Given the description of an element on the screen output the (x, y) to click on. 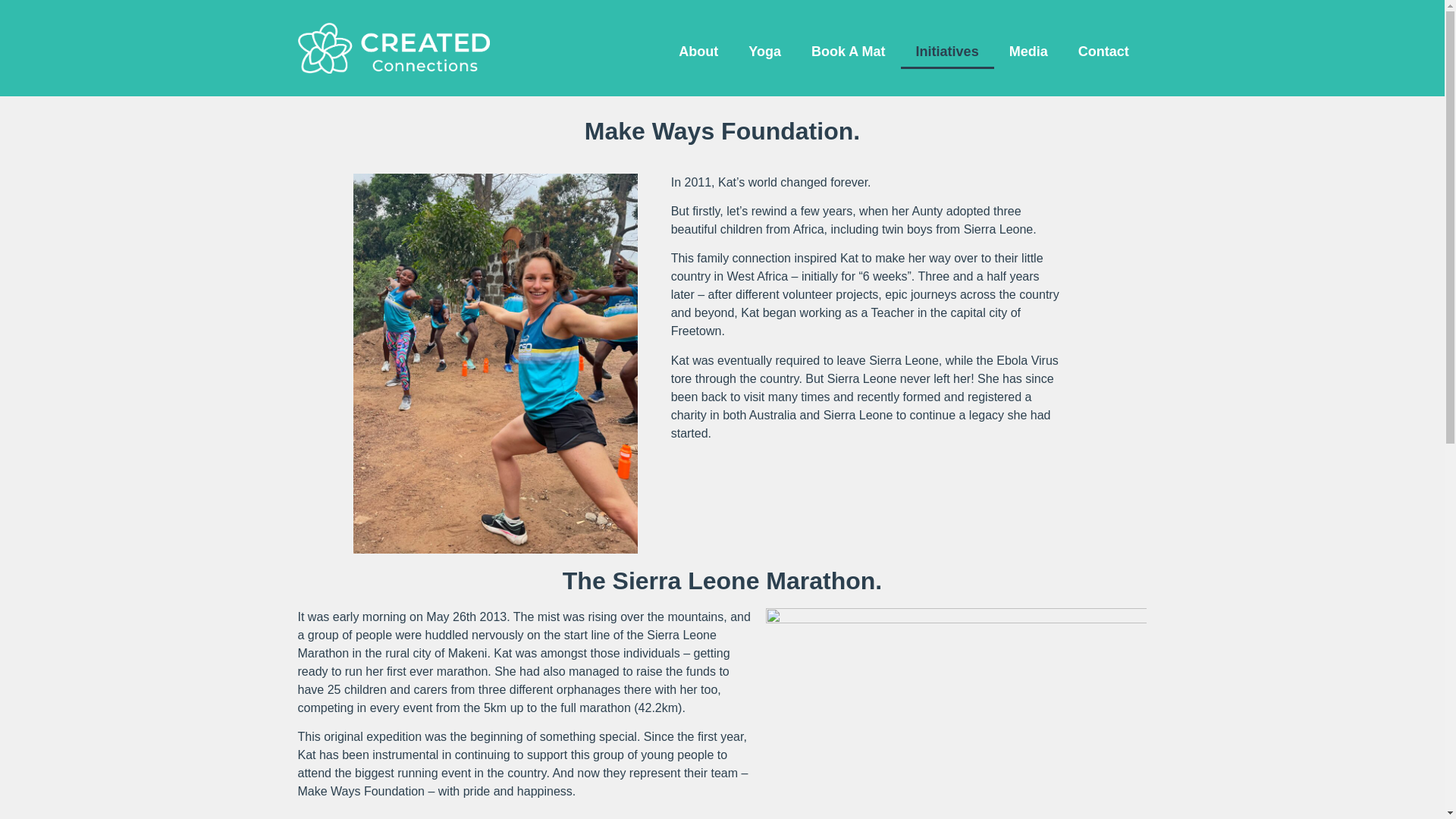
About (698, 51)
Contact (1103, 51)
Book A Mat (848, 51)
Yoga (764, 51)
Initiatives (947, 51)
Media (1028, 51)
